Given the description of an element on the screen output the (x, y) to click on. 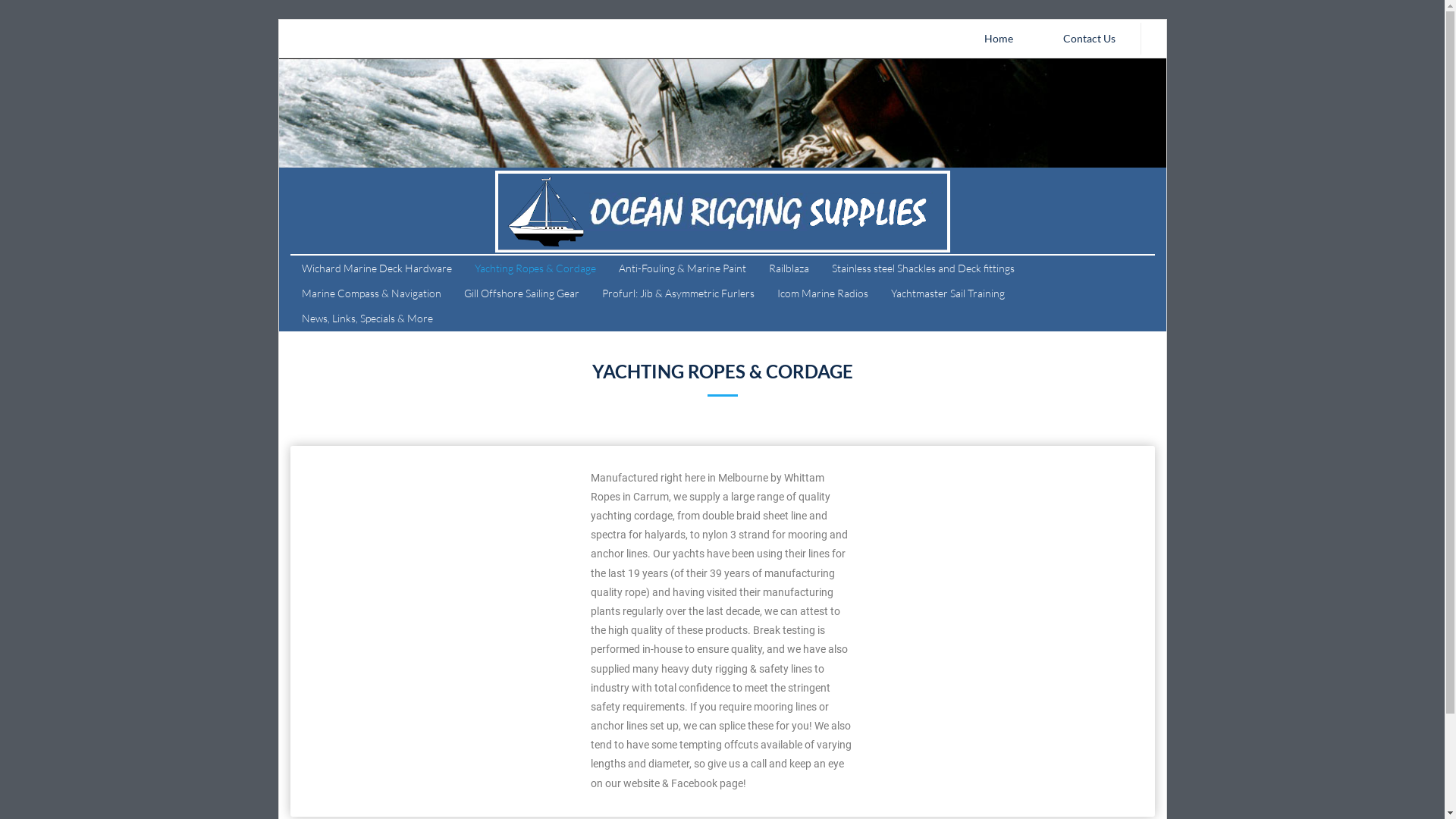
Yachtmaster Sail Training Element type: text (947, 292)
Wichard Marine Deck Hardware Element type: text (375, 267)
Icom Marine Radios Element type: text (822, 292)
Home Element type: text (997, 38)
Stainless steel Shackles and Deck fittings Element type: text (923, 267)
Marine Compass & Navigation Element type: text (370, 292)
Anti-Fouling & Marine Paint Element type: text (681, 267)
Railblaza Element type: text (787, 267)
Profurl: Jib & Asymmetric Furlers Element type: text (677, 292)
News, Links, Specials & More Element type: text (360, 317)
Contact Us Element type: text (1088, 38)
Yachting Ropes & Cordage Element type: text (534, 267)
Gill Offshore Sailing Gear Element type: text (520, 292)
